Given the description of an element on the screen output the (x, y) to click on. 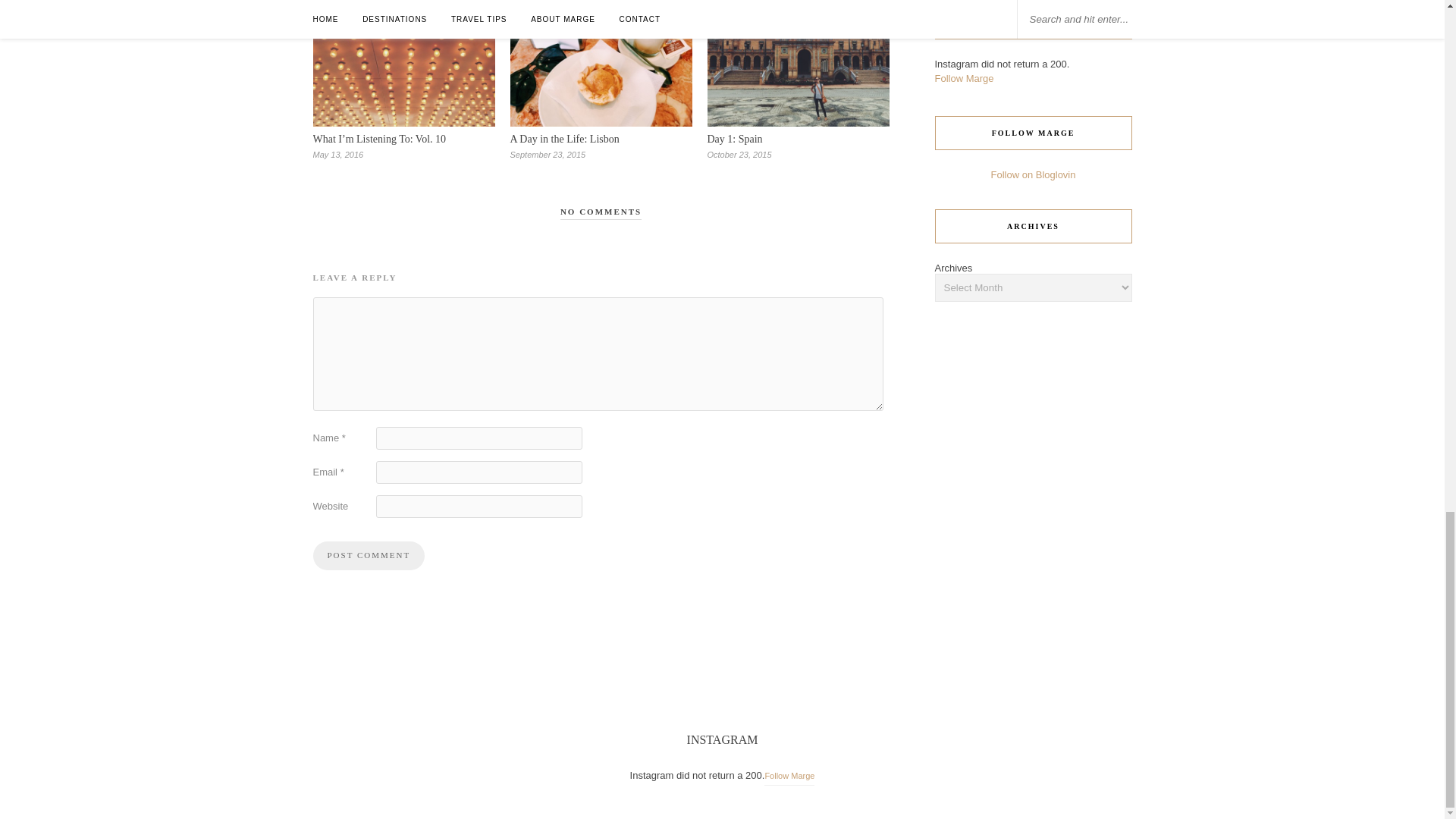
Post Comment (369, 555)
